Given the description of an element on the screen output the (x, y) to click on. 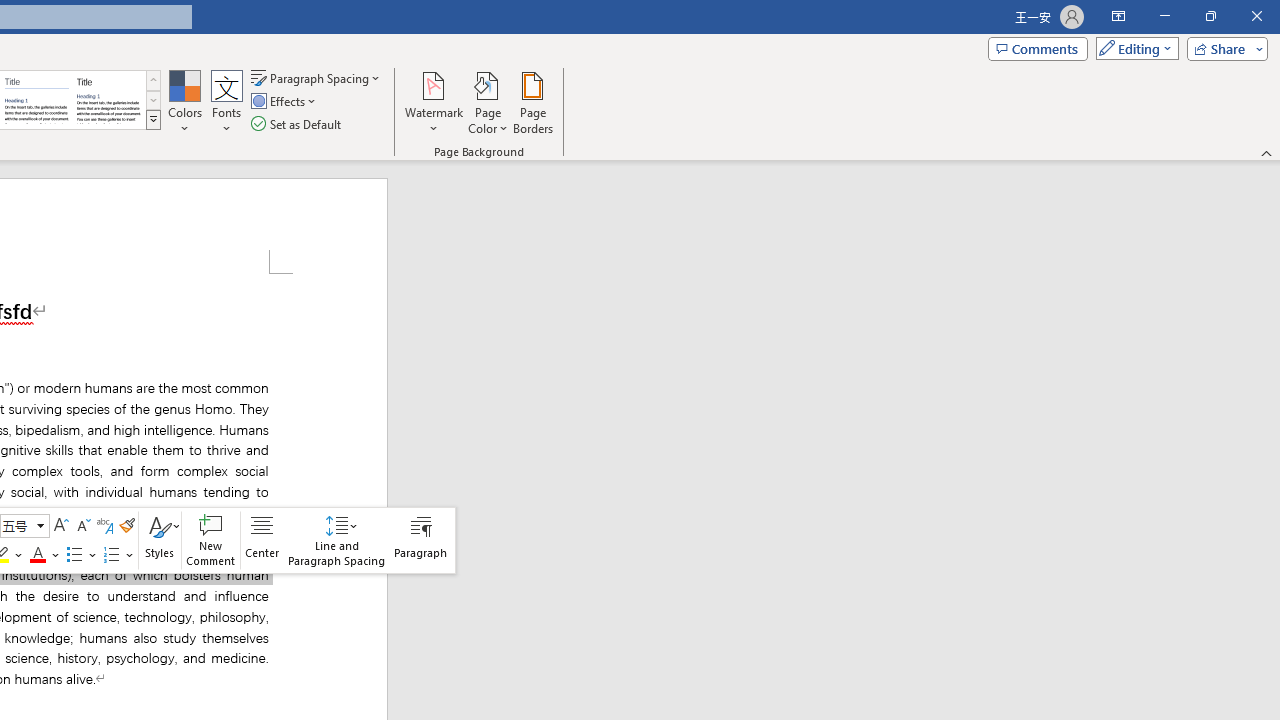
Word 2013 (108, 100)
New Comment (210, 540)
Effects (285, 101)
Word 2010 (36, 100)
Class: NetUIComboboxAnchor (24, 525)
Page Borders... (532, 102)
Paragraph... (420, 540)
